Given the description of an element on the screen output the (x, y) to click on. 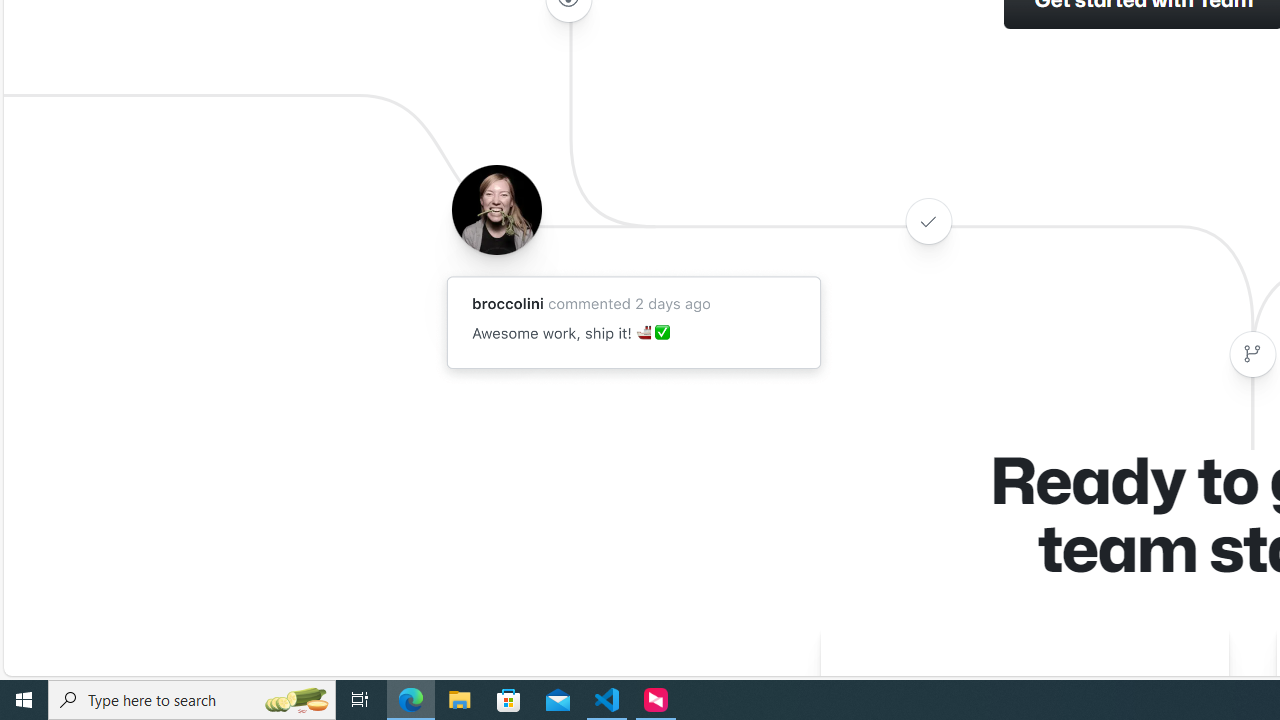
Class: color-fg-muted width-full (1252, 354)
Avatar of the user broccolini (495, 209)
